Given the description of an element on the screen output the (x, y) to click on. 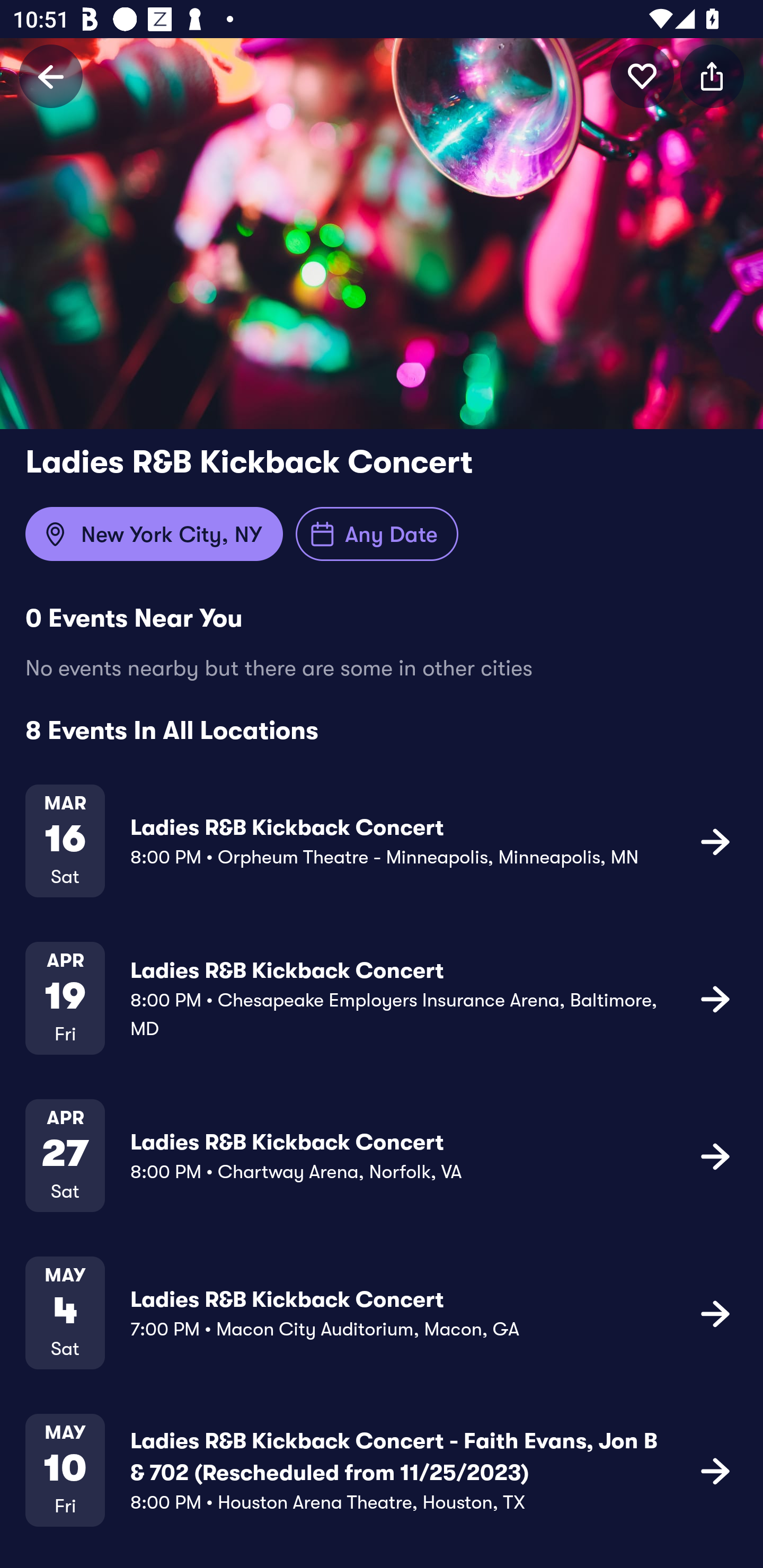
Back (50, 75)
icon button (641, 75)
icon button (711, 75)
New York City, NY (153, 533)
Any Date (377, 533)
icon button (714, 840)
icon button (714, 998)
icon button (714, 1155)
icon button (714, 1312)
icon button (714, 1470)
